Given the description of an element on the screen output the (x, y) to click on. 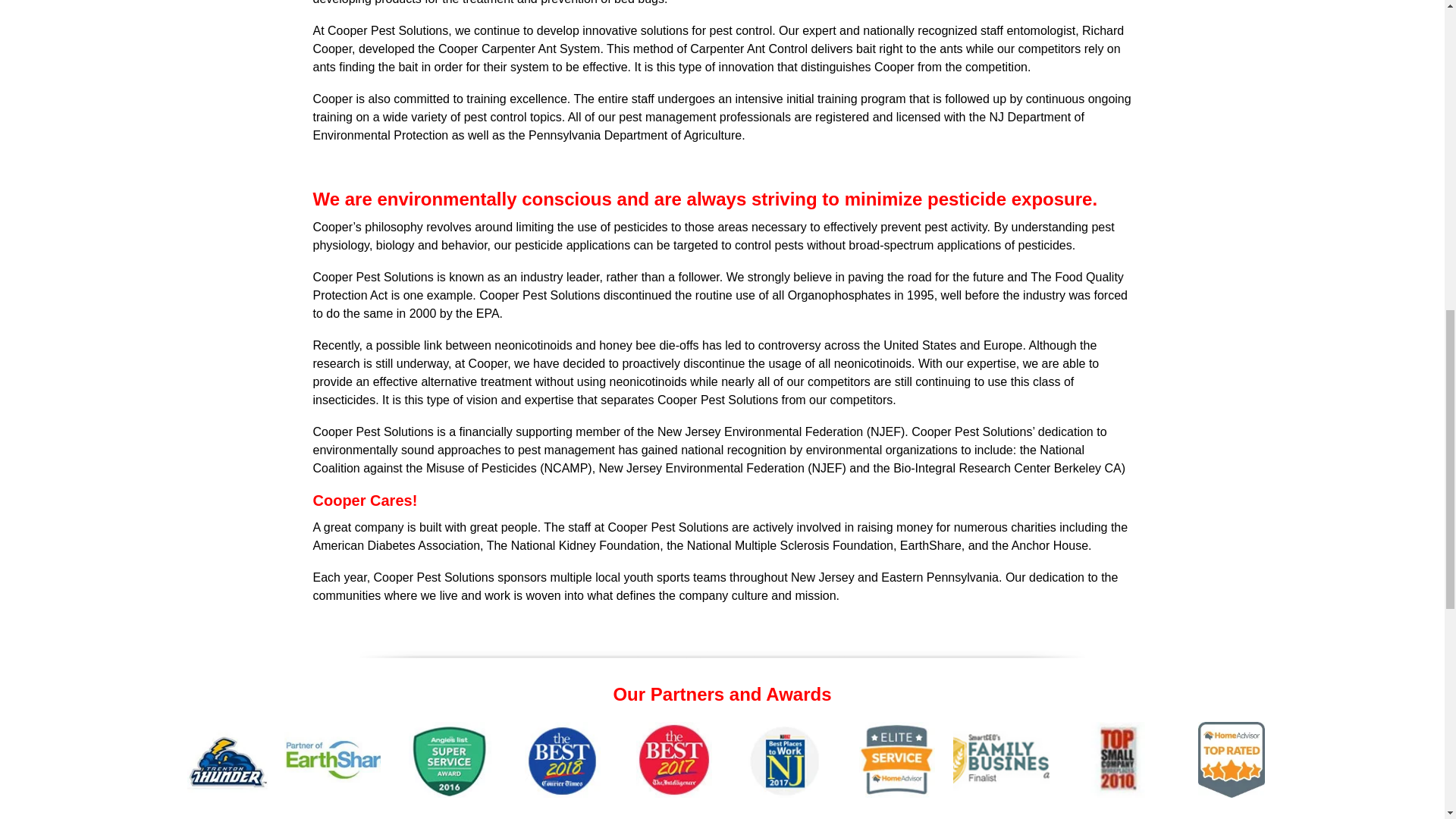
top-small-company-v2 (1119, 759)
home-advisor (896, 759)
partner-earthshare (339, 759)
courier-best-2017 (561, 759)
anglie's-list-2016 (451, 759)
Top rated HA badge (1230, 759)
nj-best-places-to-work-circle (786, 759)
partner-thunder (228, 759)
intelligencer-best-2017 (673, 759)
family-business-finalist (1007, 759)
